Given the description of an element on the screen output the (x, y) to click on. 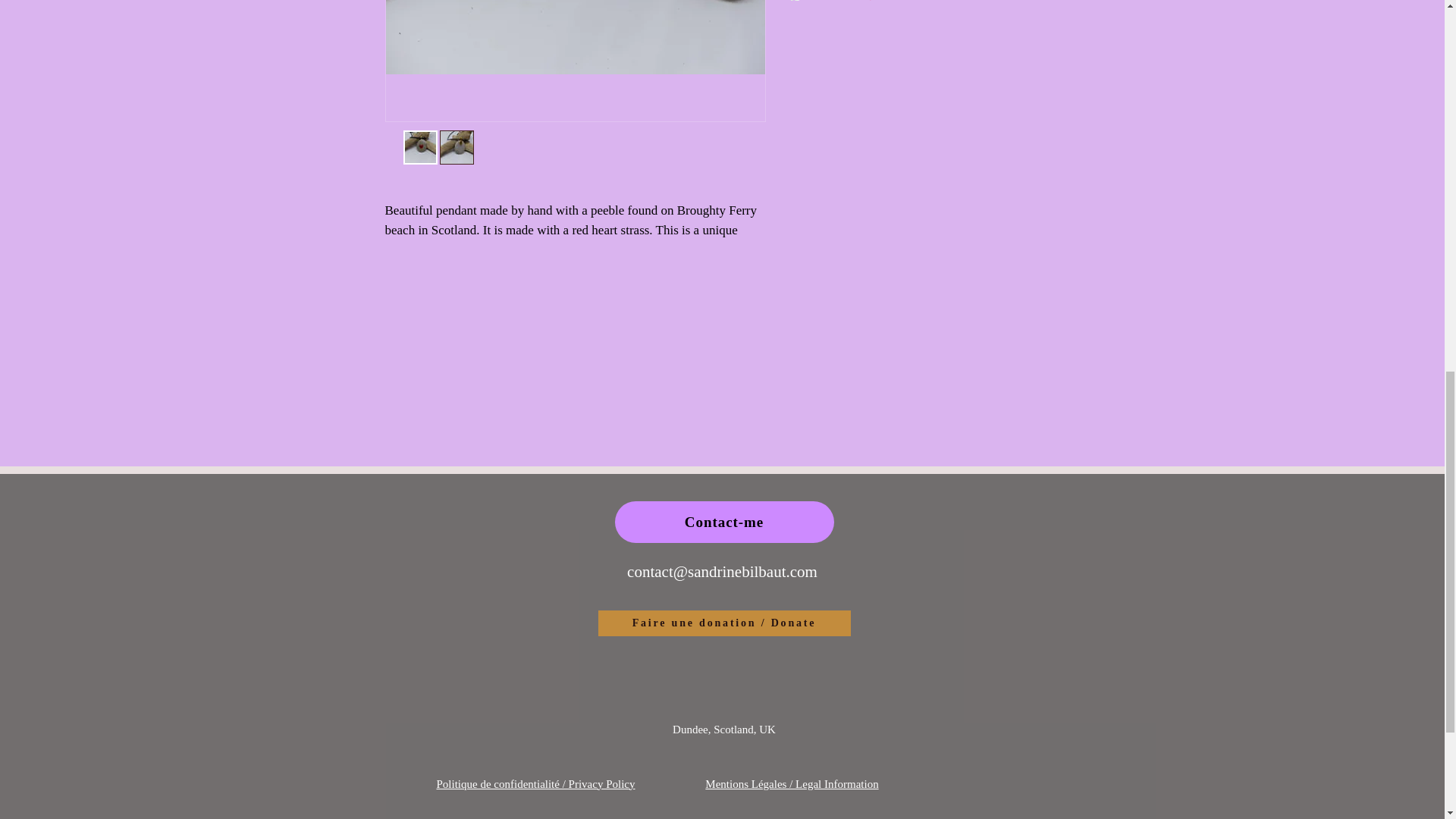
Contact-me (723, 521)
